Given the description of an element on the screen output the (x, y) to click on. 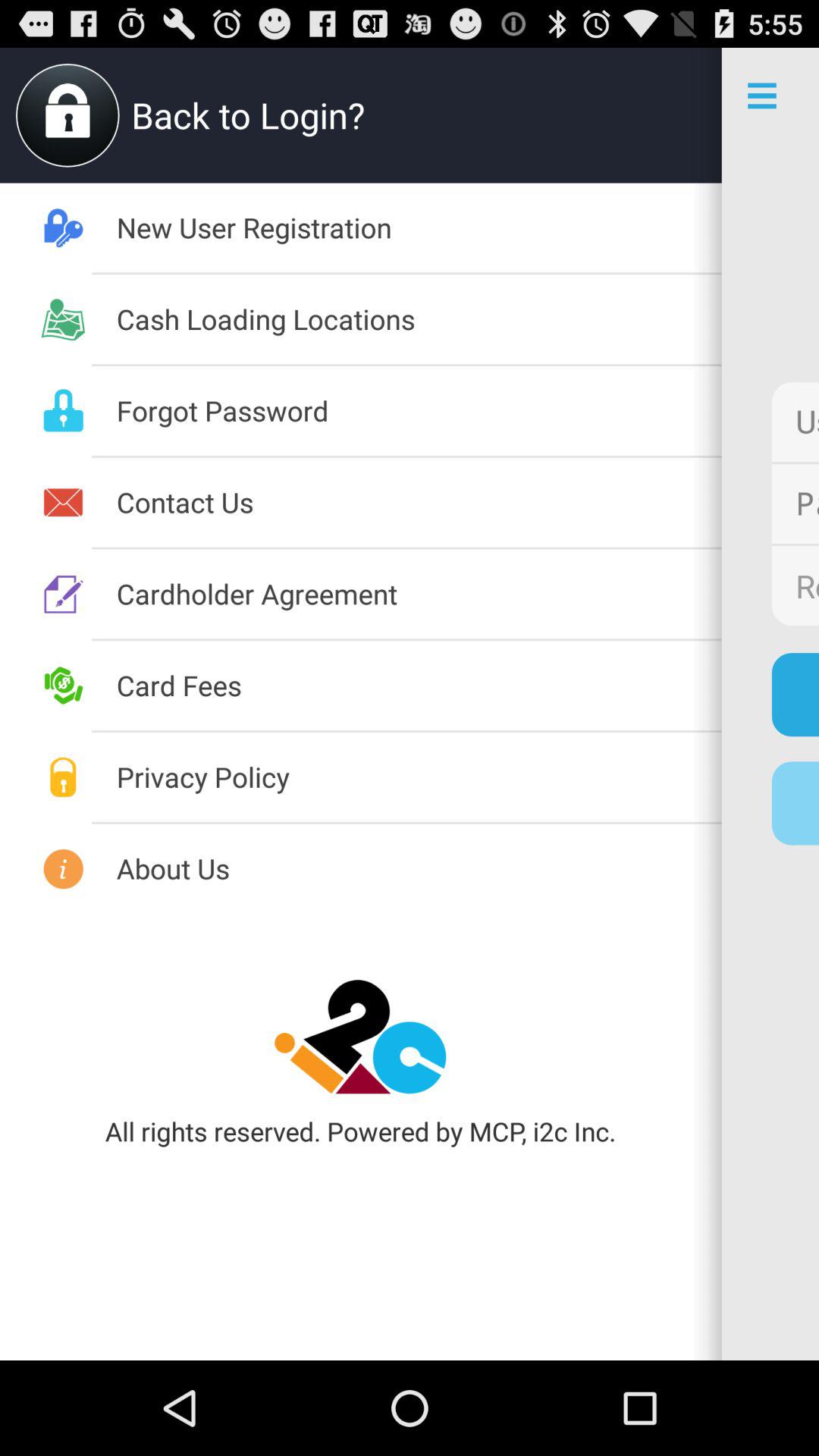
turn on item above new user registration icon (673, 115)
